Given the description of an element on the screen output the (x, y) to click on. 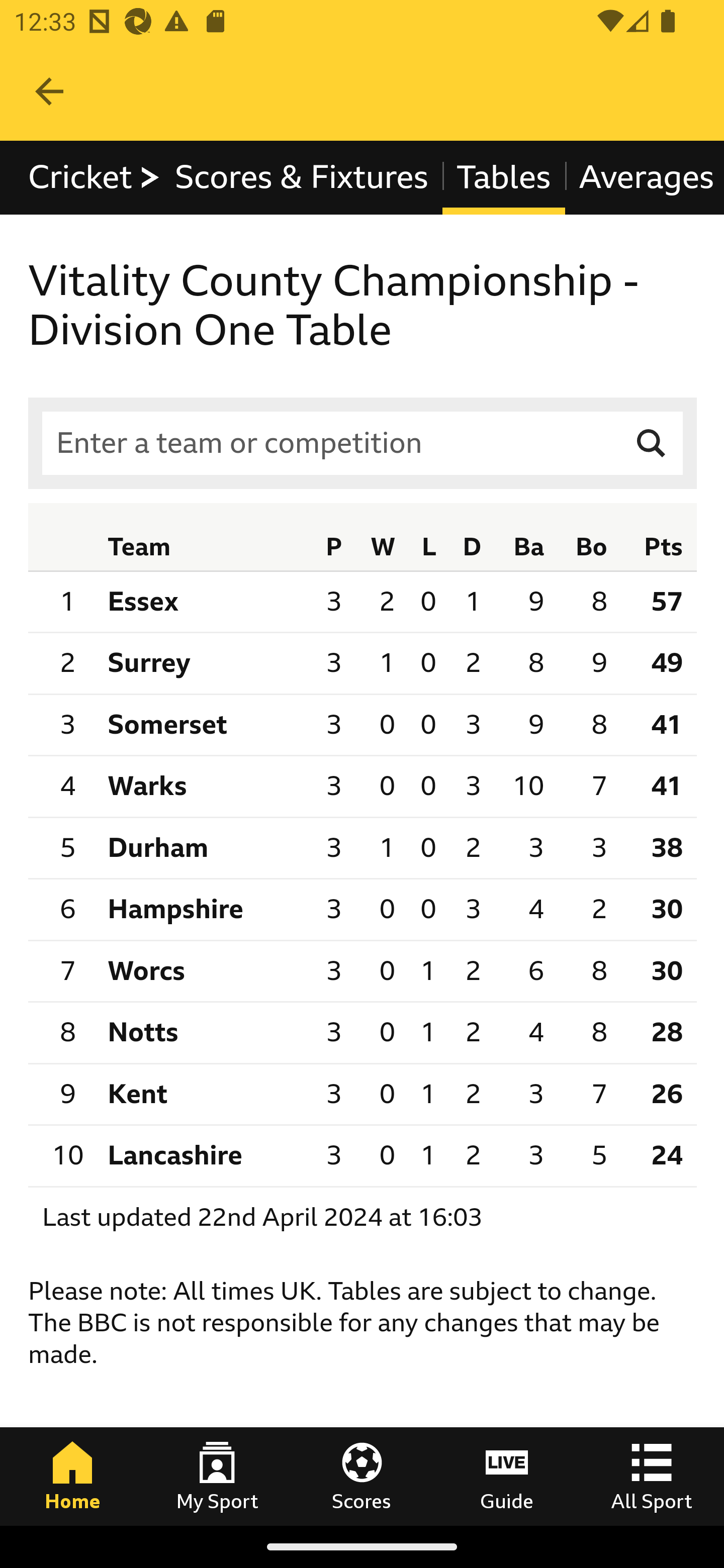
Navigate up (49, 91)
Cricket  (95, 177)
Scores & Fixtures (301, 177)
Tables (503, 177)
Averages (643, 177)
Search (651, 443)
Essex (203, 601)
Surrey (203, 662)
Somerset (203, 724)
Warks Warwickshire (203, 785)
Durham (203, 847)
Hampshire (203, 909)
Worcs Worcestershire (203, 970)
Notts Nottinghamshire (203, 1032)
Kent (203, 1094)
Lancashire (203, 1155)
My Sport (216, 1475)
Scores (361, 1475)
Guide (506, 1475)
All Sport (651, 1475)
